Given the description of an element on the screen output the (x, y) to click on. 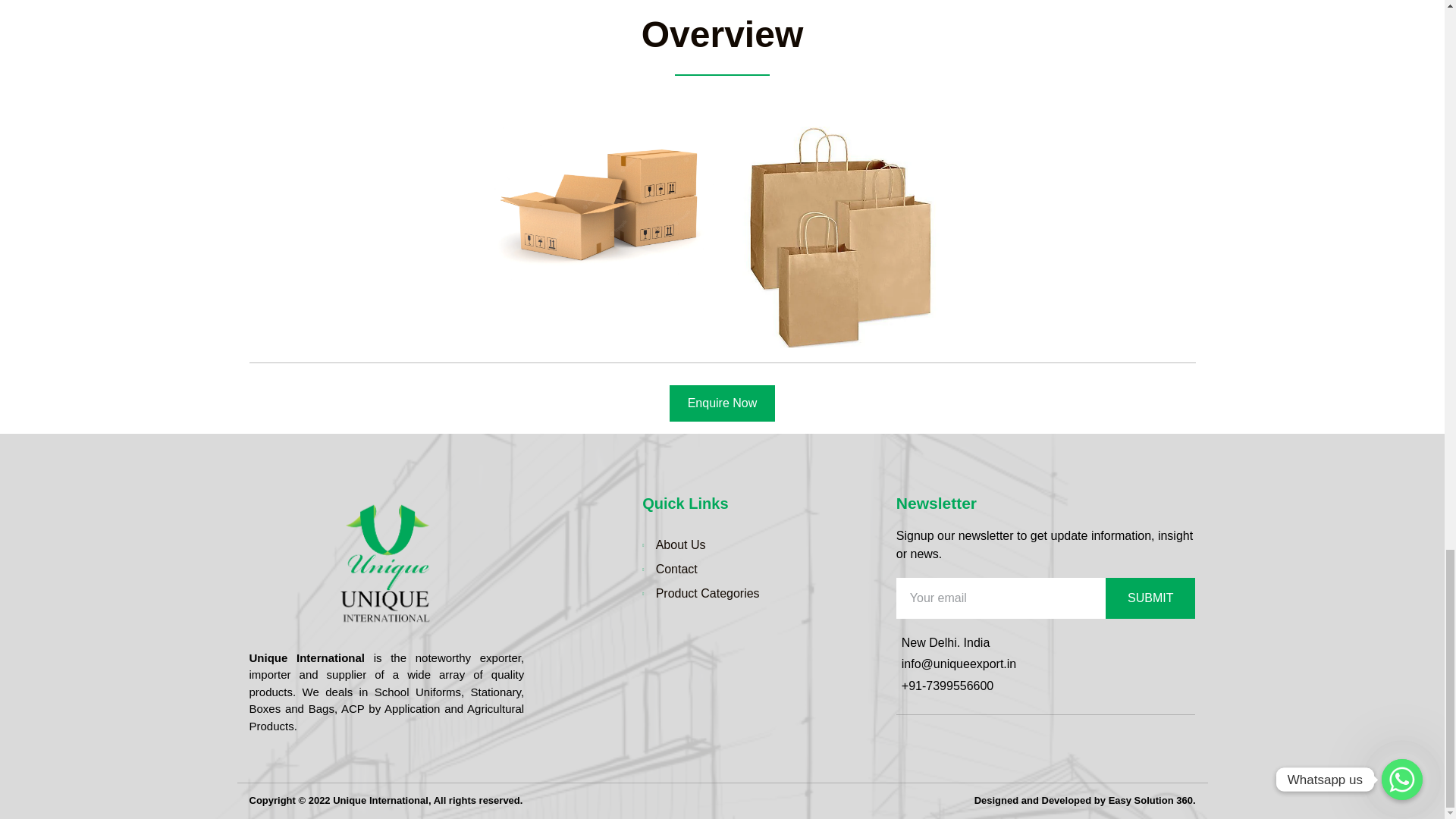
Enquire Now (722, 402)
